Given the description of an element on the screen output the (x, y) to click on. 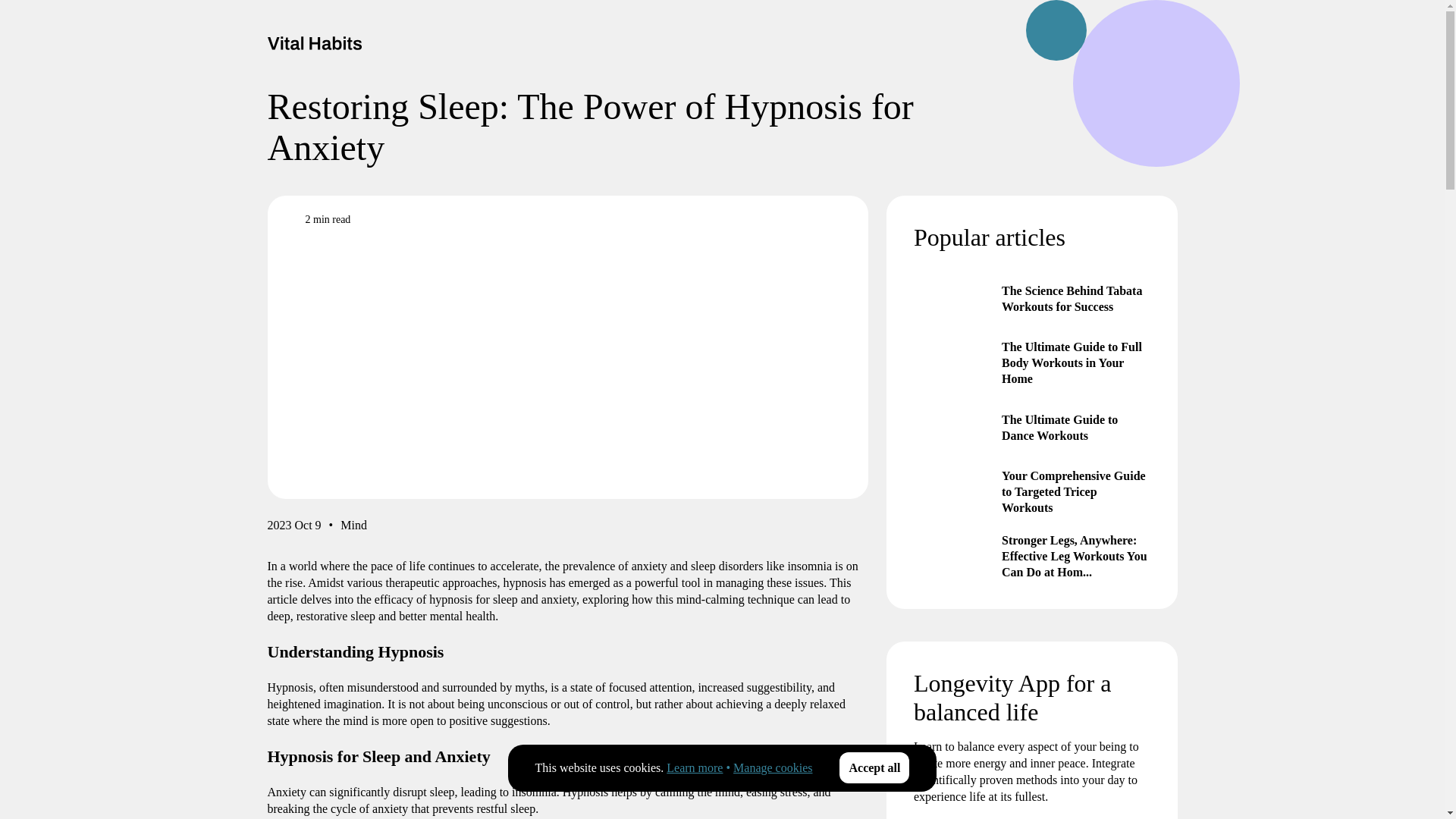
Learn more (694, 767)
Mind (353, 527)
